Given the description of an element on the screen output the (x, y) to click on. 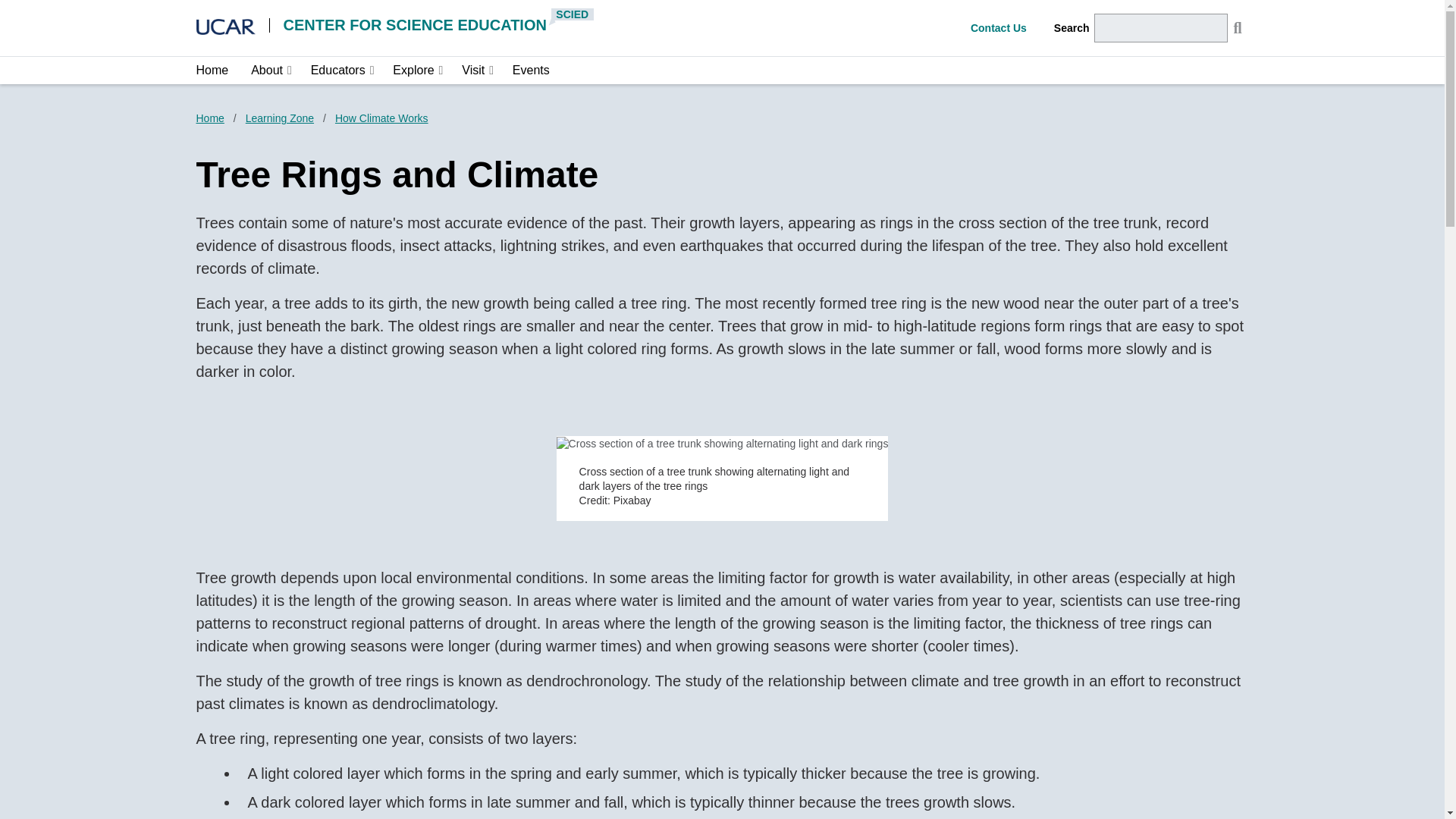
Contact Us (998, 28)
Home (209, 118)
Cross section of a tree trunk (722, 443)
CENTER FOR SCIENCE EDUCATION (415, 24)
Visit (472, 70)
Home (211, 70)
Explore (413, 70)
UCAR Home (224, 25)
SCIED (572, 14)
Learning Zone (280, 118)
